Given the description of an element on the screen output the (x, y) to click on. 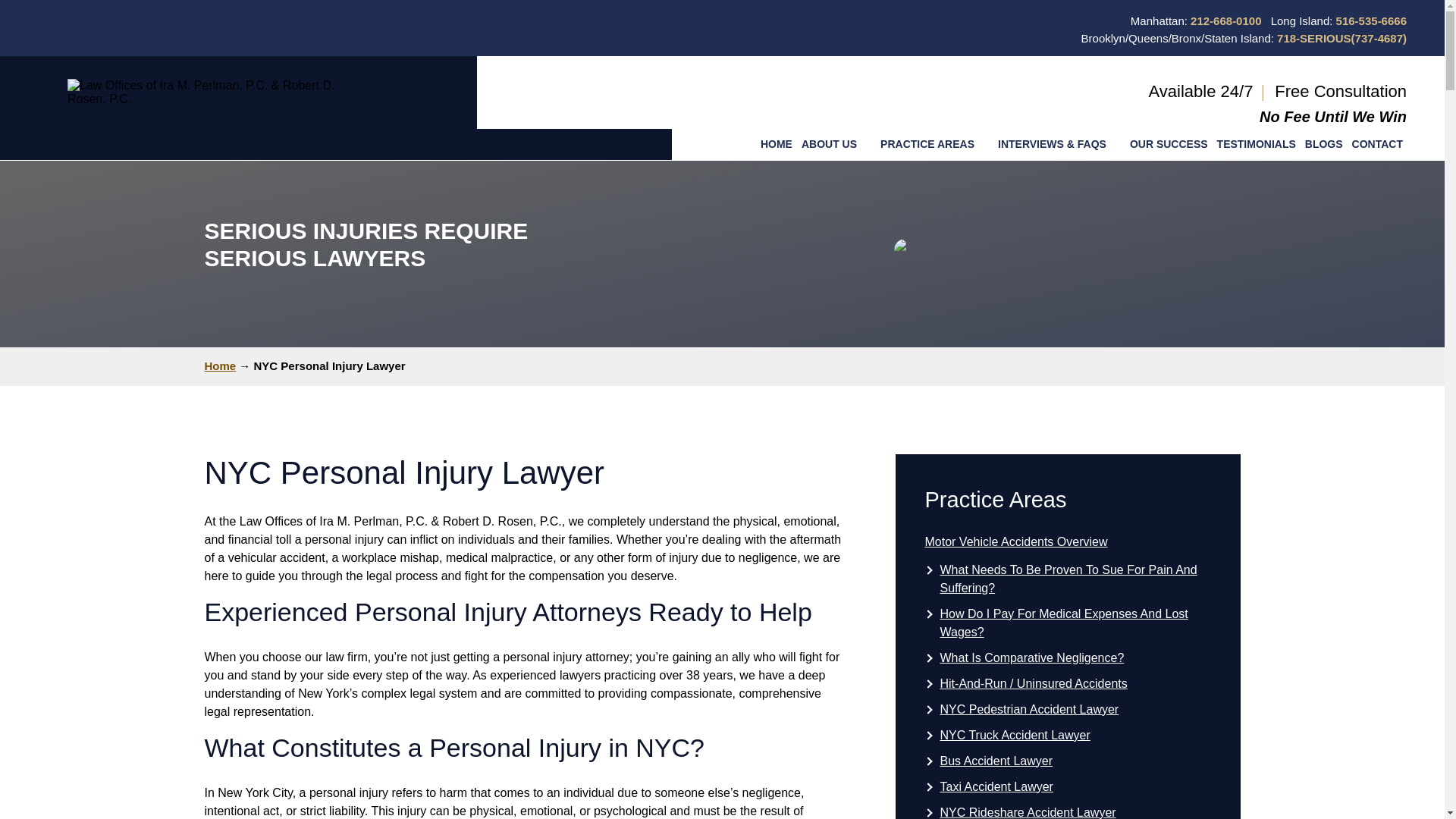
PRACTICE AREAS (934, 143)
HOME (776, 143)
ABOUT US (836, 143)
212-668-0100 (1225, 20)
516-535-6666 (1371, 20)
